Given the description of an element on the screen output the (x, y) to click on. 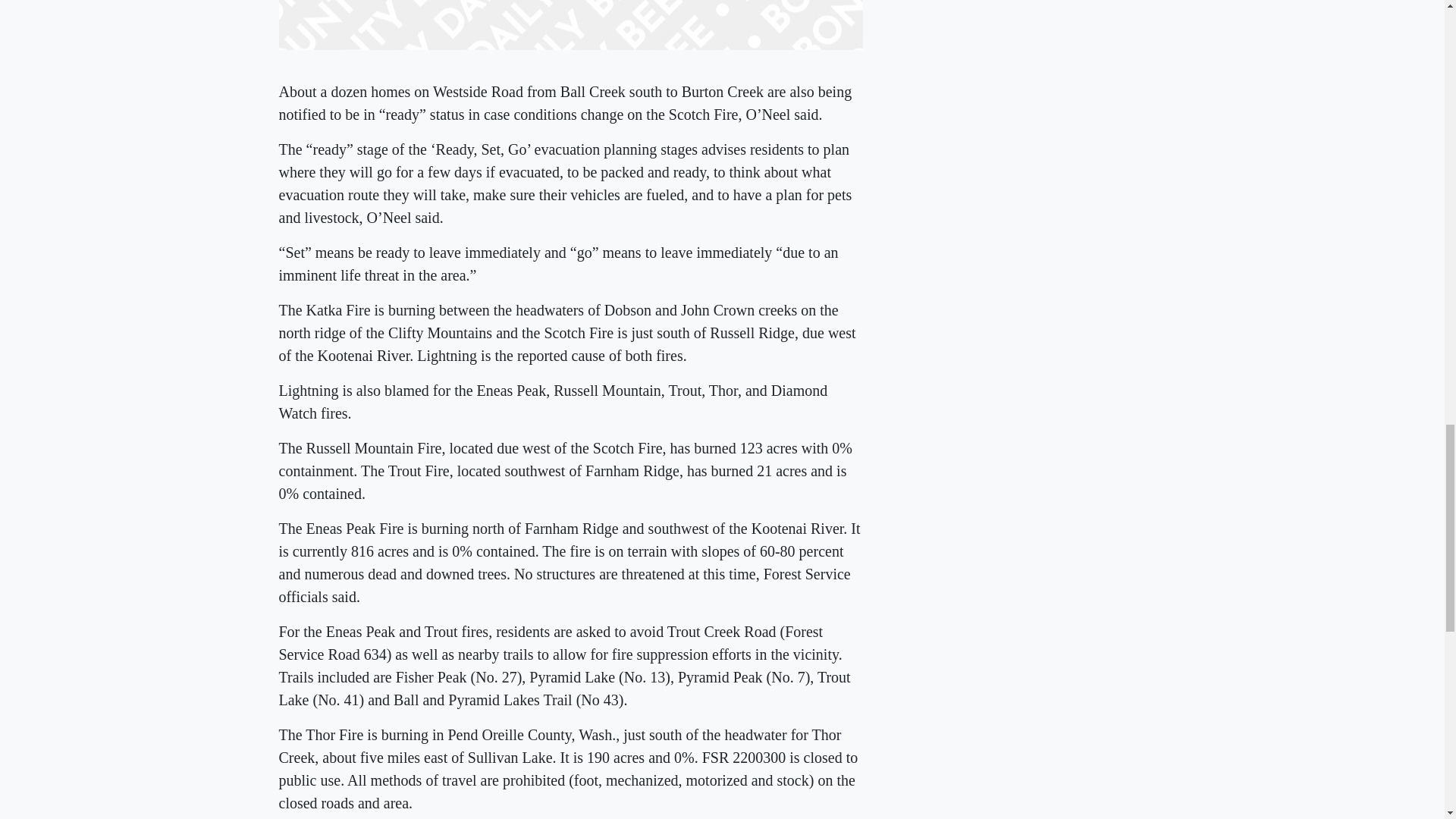
3rd party ad content (1052, 11)
